Given the description of an element on the screen output the (x, y) to click on. 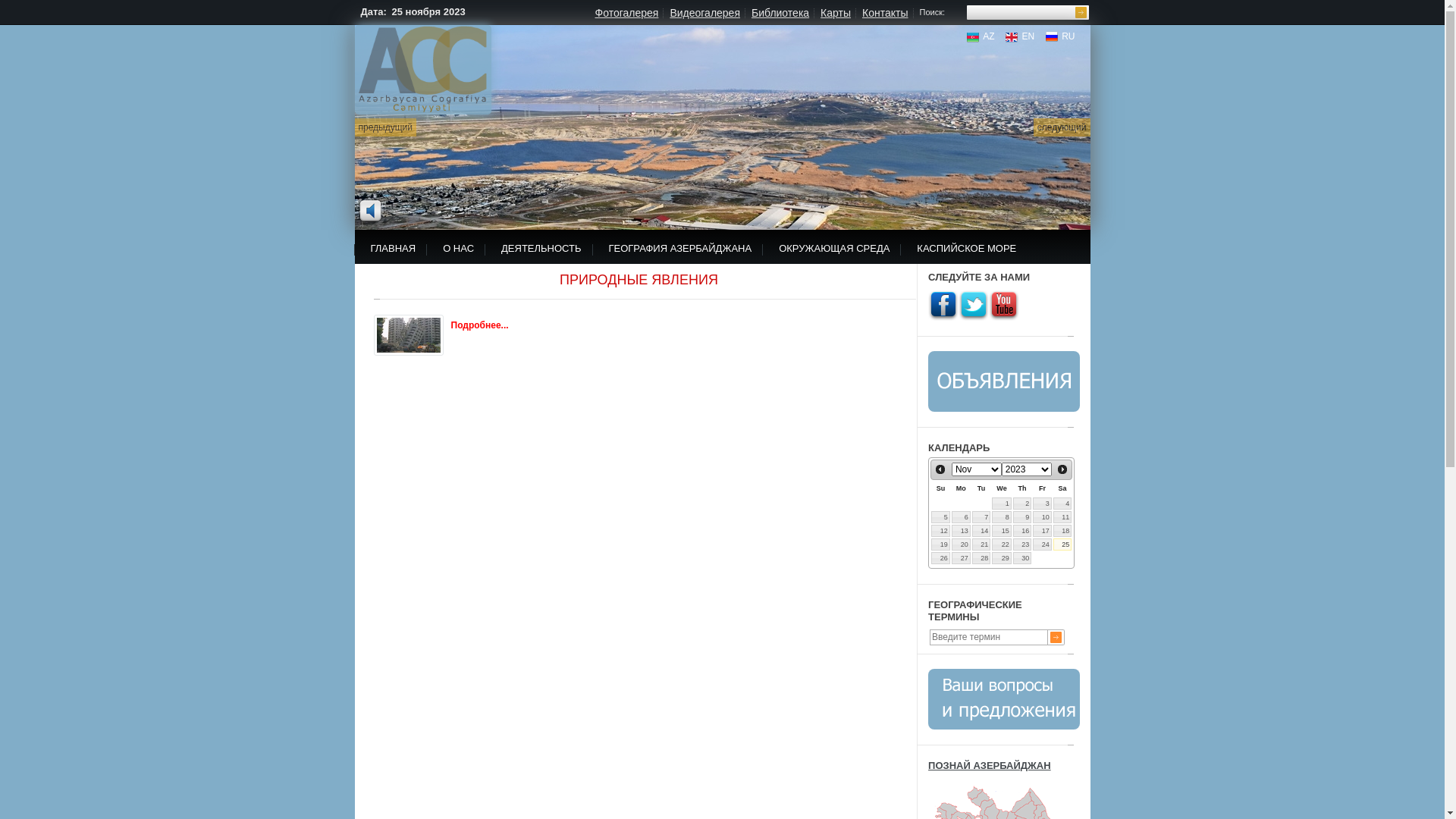
27 Element type: text (960, 558)
17 Element type: text (1041, 530)
19 Element type: text (940, 544)
13 Element type: text (960, 530)
2 Element type: text (1022, 503)
1 Element type: text (1001, 503)
Our Youtube Channel Element type: hover (1003, 305)
7 Element type: text (981, 517)
24 Element type: text (1041, 544)
22 Element type: text (1001, 544)
26 Element type: text (940, 558)
4 Element type: text (1062, 503)
10 Element type: text (1041, 517)
20 Element type: text (960, 544)
11 Element type: text (1062, 517)
25 Element type: text (1062, 544)
EN Element type: text (1019, 36)
15 Element type: text (1001, 530)
3 Element type: text (1041, 503)
14 Element type: text (981, 530)
6 Element type: text (960, 517)
12 Element type: text (940, 530)
Our Facebook Page Element type: hover (943, 305)
AZ Element type: text (980, 36)
RU Element type: text (1059, 36)
30 Element type: text (1022, 558)
Our Twitter page Element type: hover (973, 305)
21 Element type: text (981, 544)
18 Element type: text (1062, 530)
Next Element type: text (1062, 468)
5 Element type: text (940, 517)
28 Element type: text (981, 558)
29 Element type: text (1001, 558)
Prev Element type: text (939, 468)
23 Element type: text (1022, 544)
9 Element type: text (1022, 517)
8 Element type: text (1001, 517)
16 Element type: text (1022, 530)
